Given the description of an element on the screen output the (x, y) to click on. 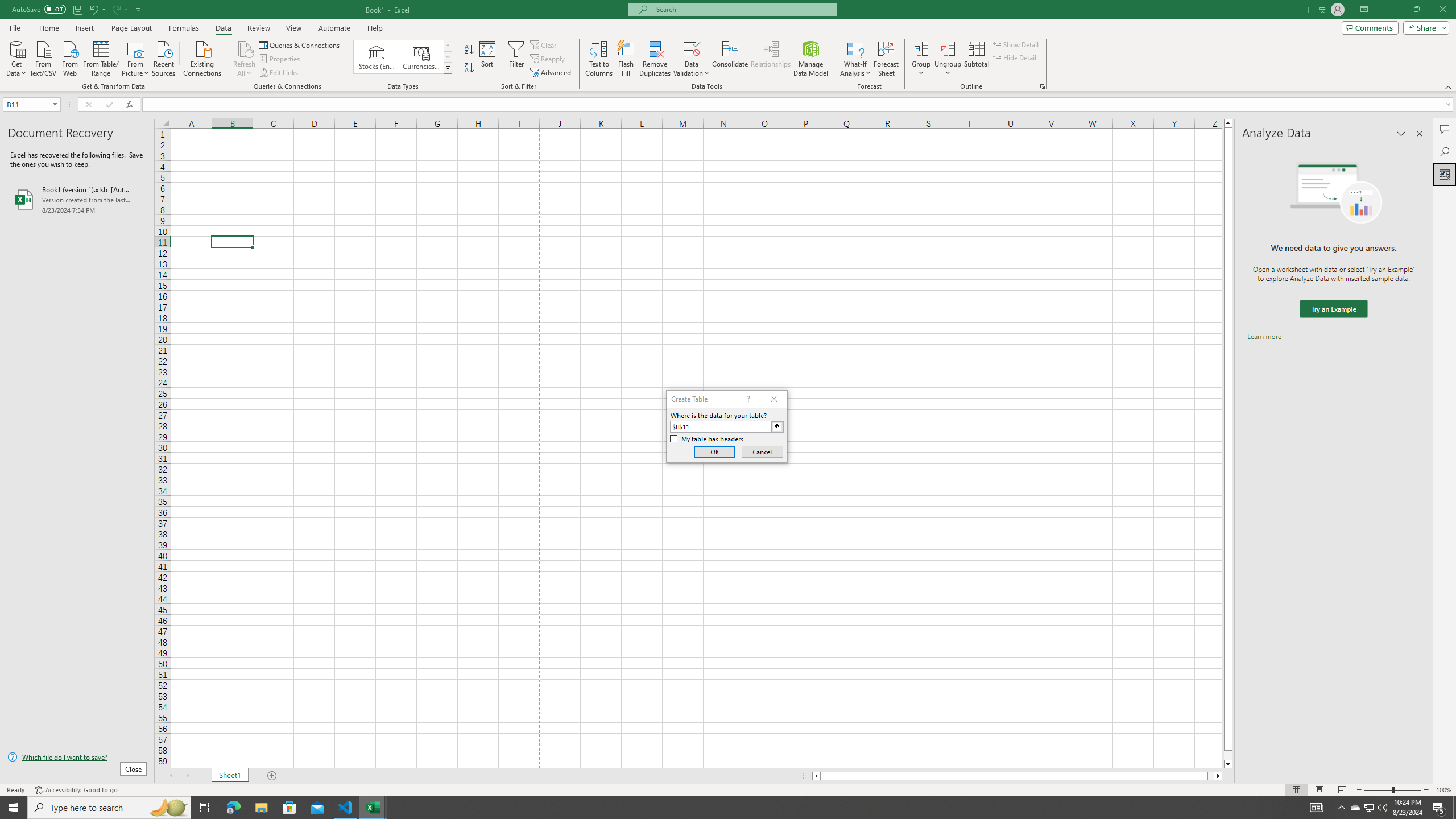
From Web (69, 57)
Redo (119, 9)
From Text/CSV (43, 57)
Line down (1228, 764)
Task Pane Options (1400, 133)
Sheet1 (229, 775)
System (6, 6)
Existing Connections (202, 57)
Advanced... (551, 72)
Comments (1369, 27)
Search (1444, 151)
Close pane (1419, 133)
Sort Z to A (469, 67)
Scroll Right (187, 775)
Zoom In (1426, 790)
